Given the description of an element on the screen output the (x, y) to click on. 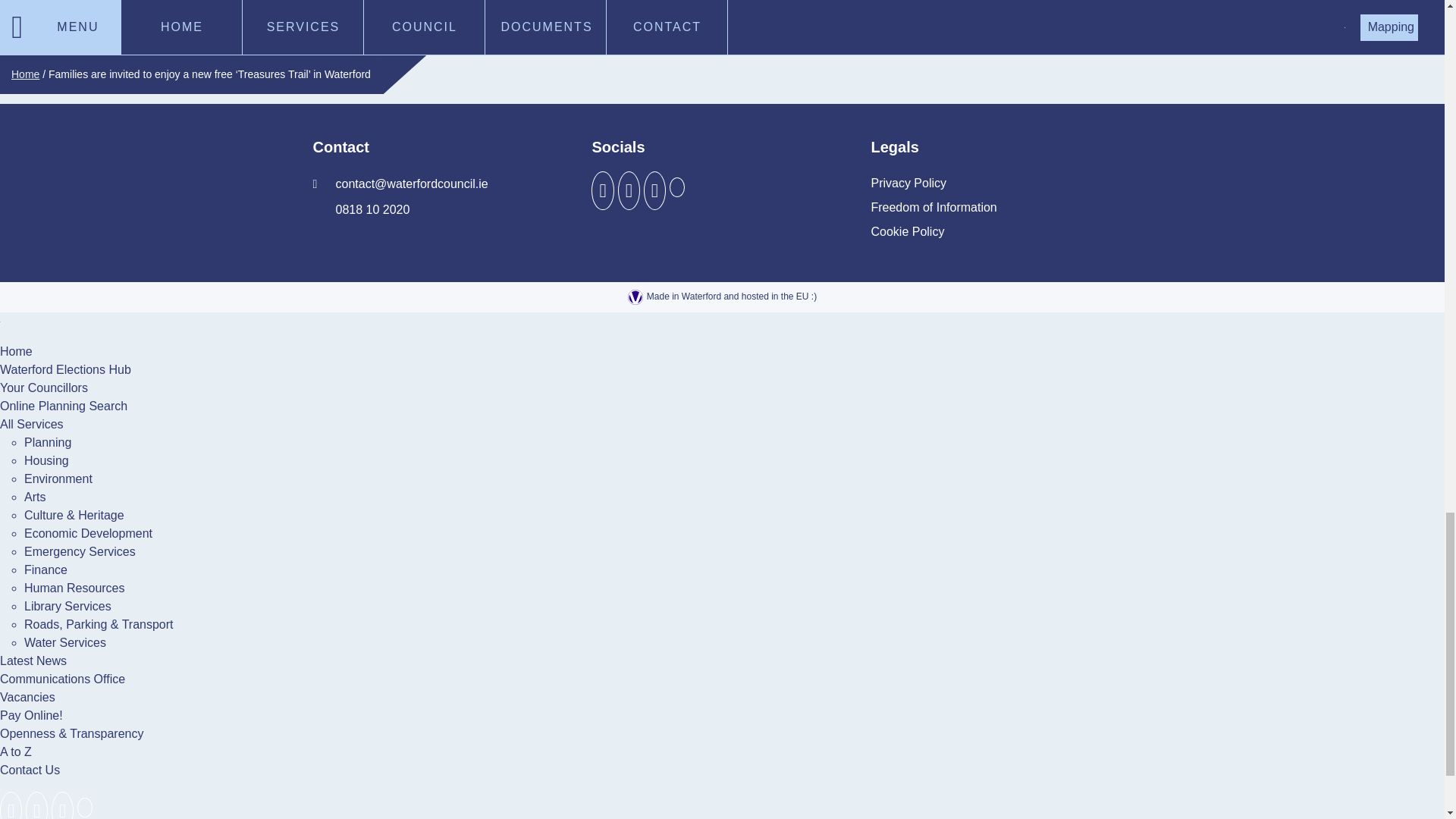
Freedom of Information (932, 207)
Privacy Policy (908, 183)
0818 10 2020 (361, 209)
Cookie Policy (906, 232)
